Given the description of an element on the screen output the (x, y) to click on. 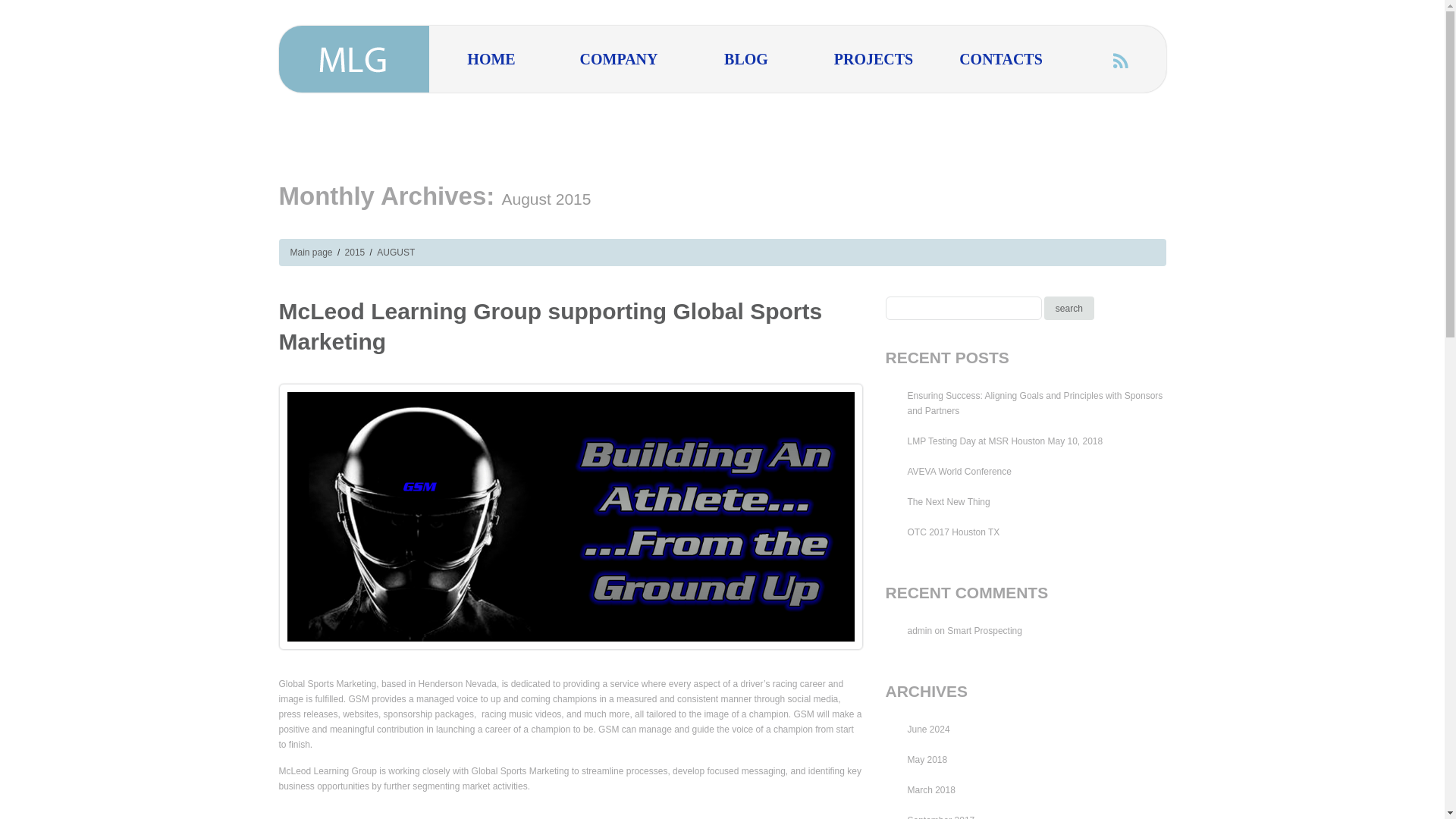
McLeod Learning Group supporting Global Sports Marketing (550, 325)
PROJECTS (873, 58)
The Next New Thing (948, 501)
June 2024 (928, 728)
OTC 2017 Houston TX (952, 532)
rss (1120, 59)
CONTACTS (1001, 58)
search (1068, 308)
Main page (310, 252)
AVEVA World Conference (958, 471)
March 2018 (931, 789)
HOME (491, 58)
BLOG (746, 58)
